Given the description of an element on the screen output the (x, y) to click on. 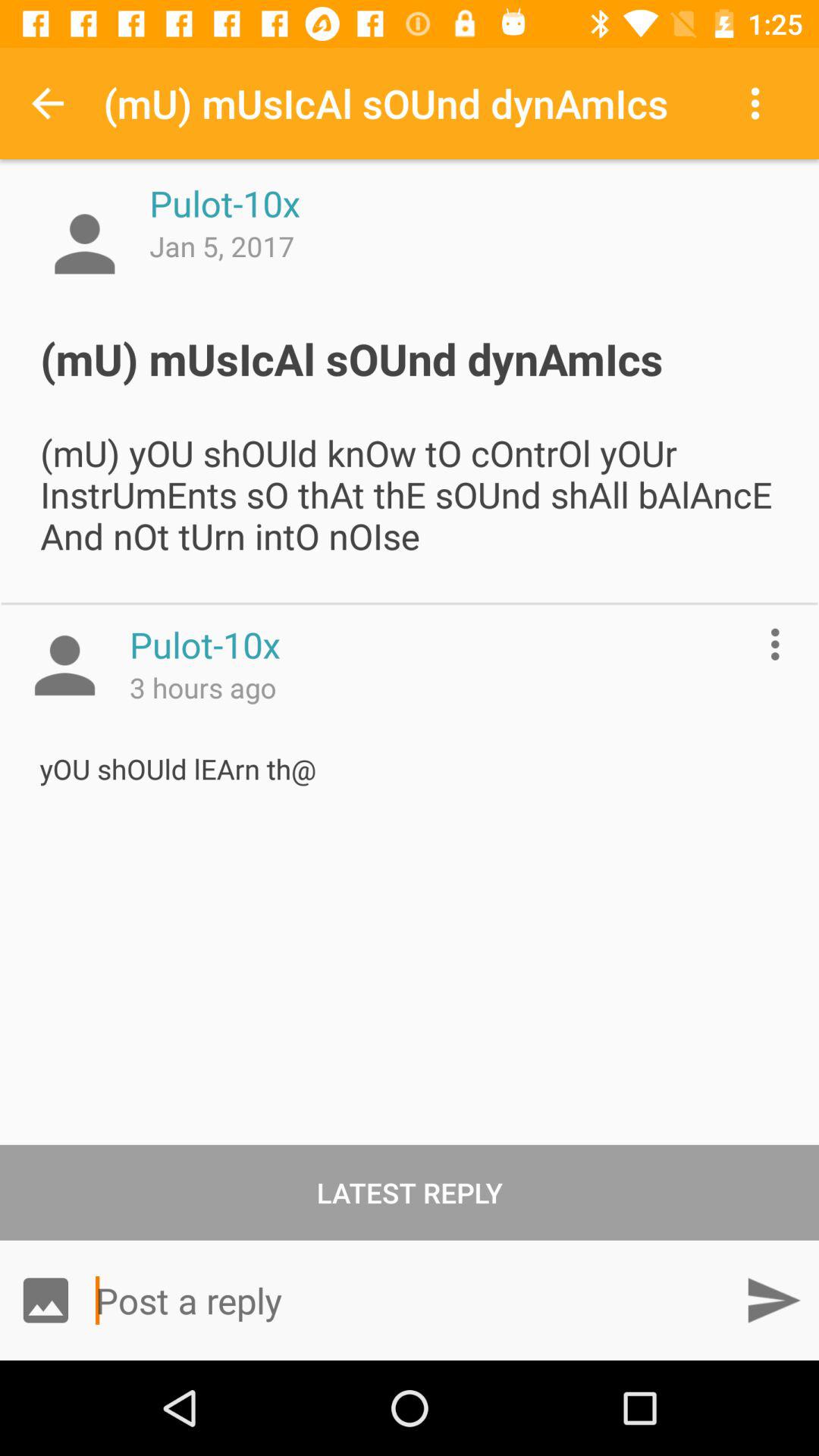
go forward (773, 1300)
